Given the description of an element on the screen output the (x, y) to click on. 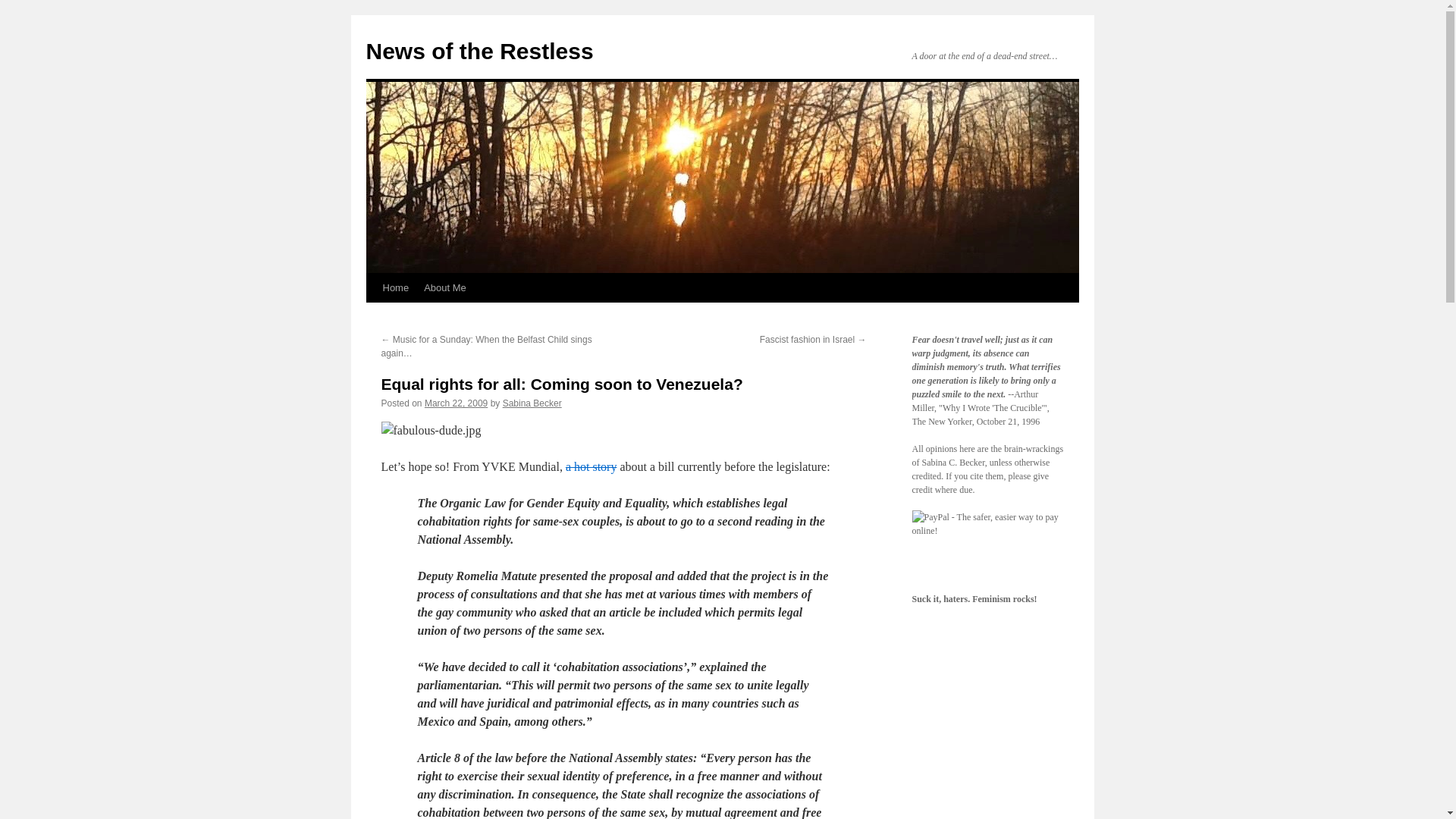
March 22, 2009 (456, 403)
Sabina Becker (532, 403)
a hot story (591, 466)
Home (395, 287)
News of the Restless (478, 50)
11:37 AM (456, 403)
View all posts by Sabina Becker (532, 403)
About Me (445, 287)
